Given the description of an element on the screen output the (x, y) to click on. 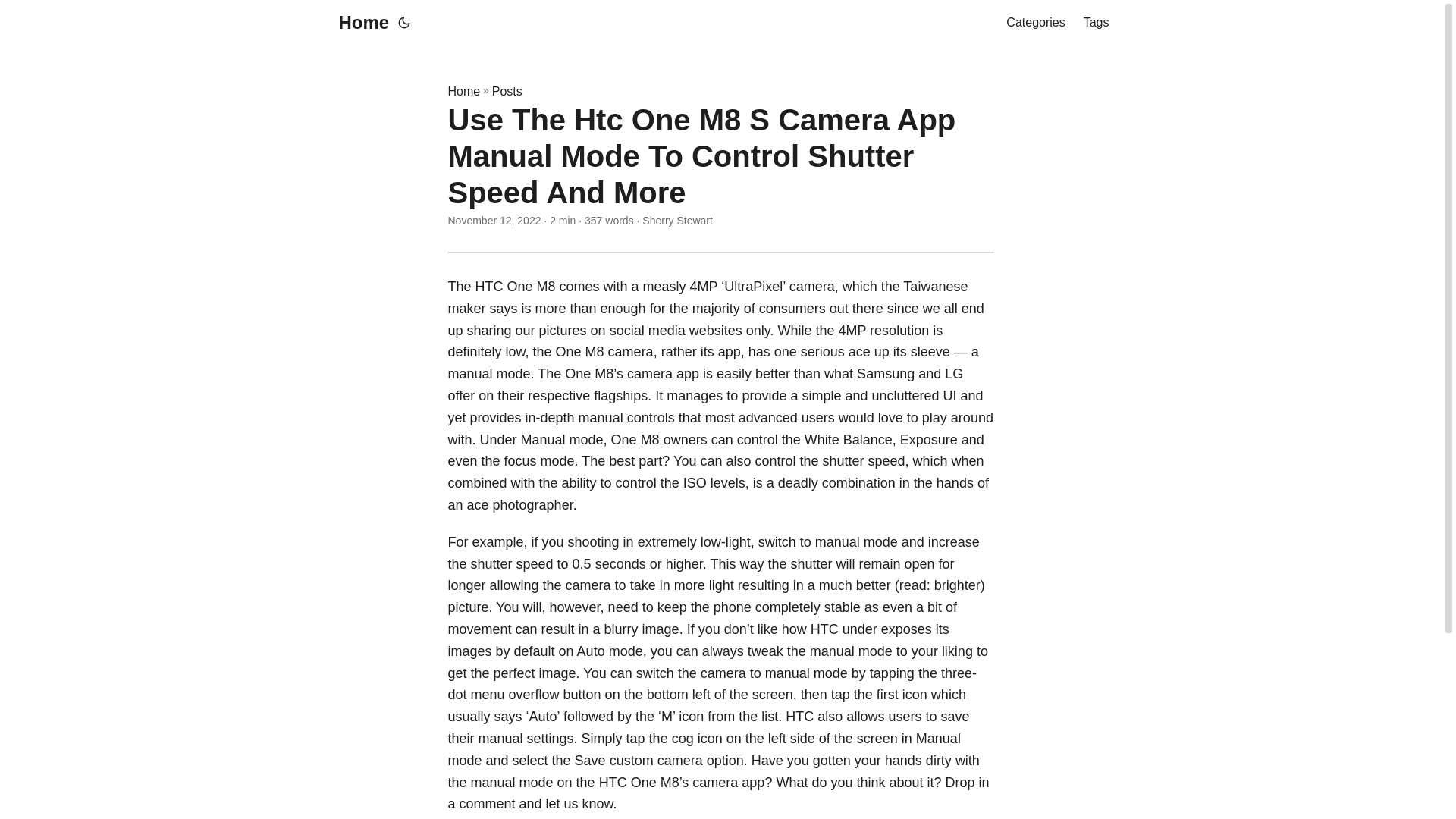
Categories (1035, 22)
Posts (507, 91)
Home (359, 22)
Home (463, 91)
Categories (1035, 22)
